Given the description of an element on the screen output the (x, y) to click on. 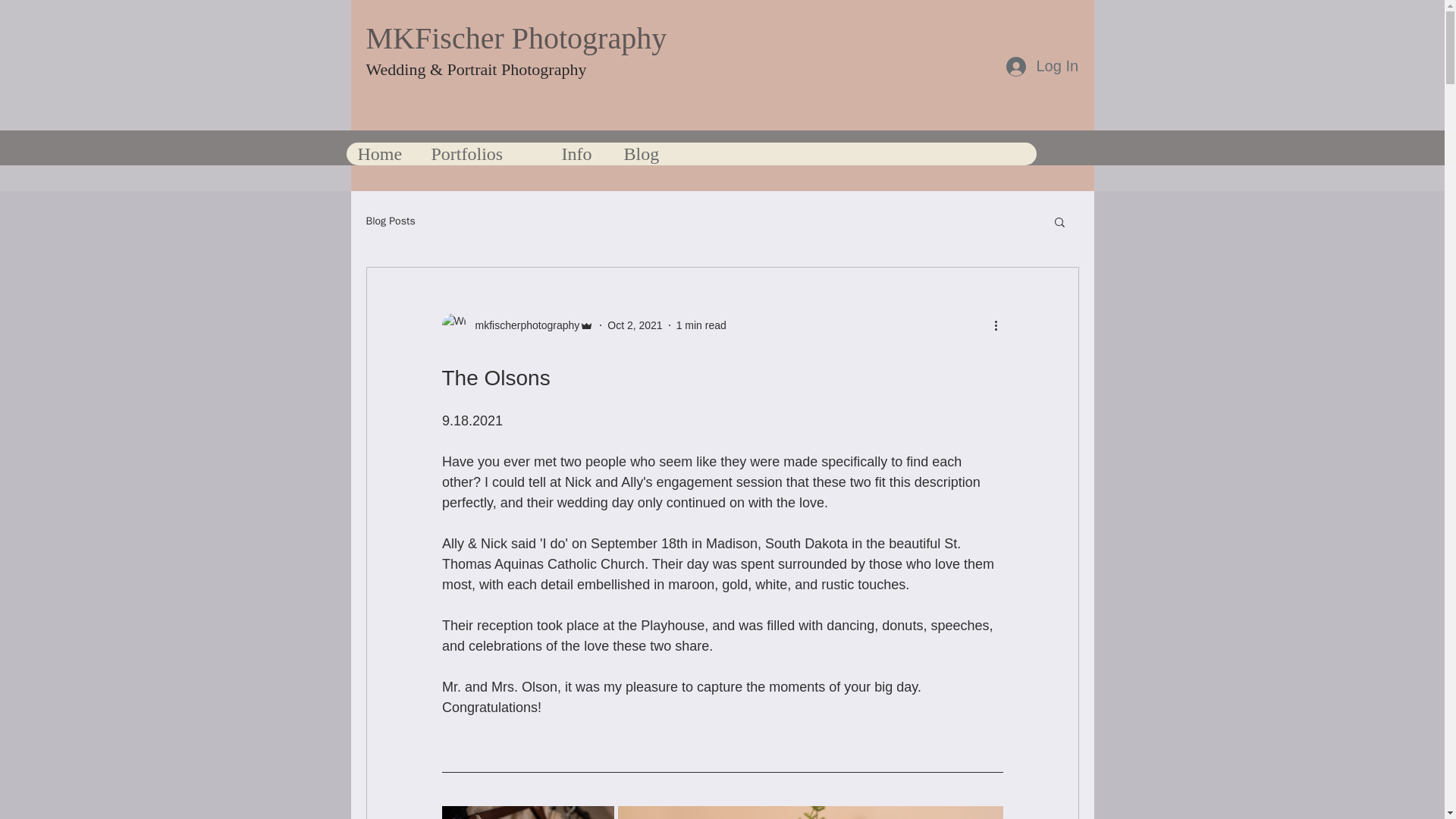
mkfischerphotography (522, 324)
Blog (647, 153)
Blog Posts (389, 221)
Oct 2, 2021 (634, 324)
1 min read (701, 324)
Log In (1040, 65)
mkfischerphotography (517, 324)
Home (382, 153)
